Given the description of an element on the screen output the (x, y) to click on. 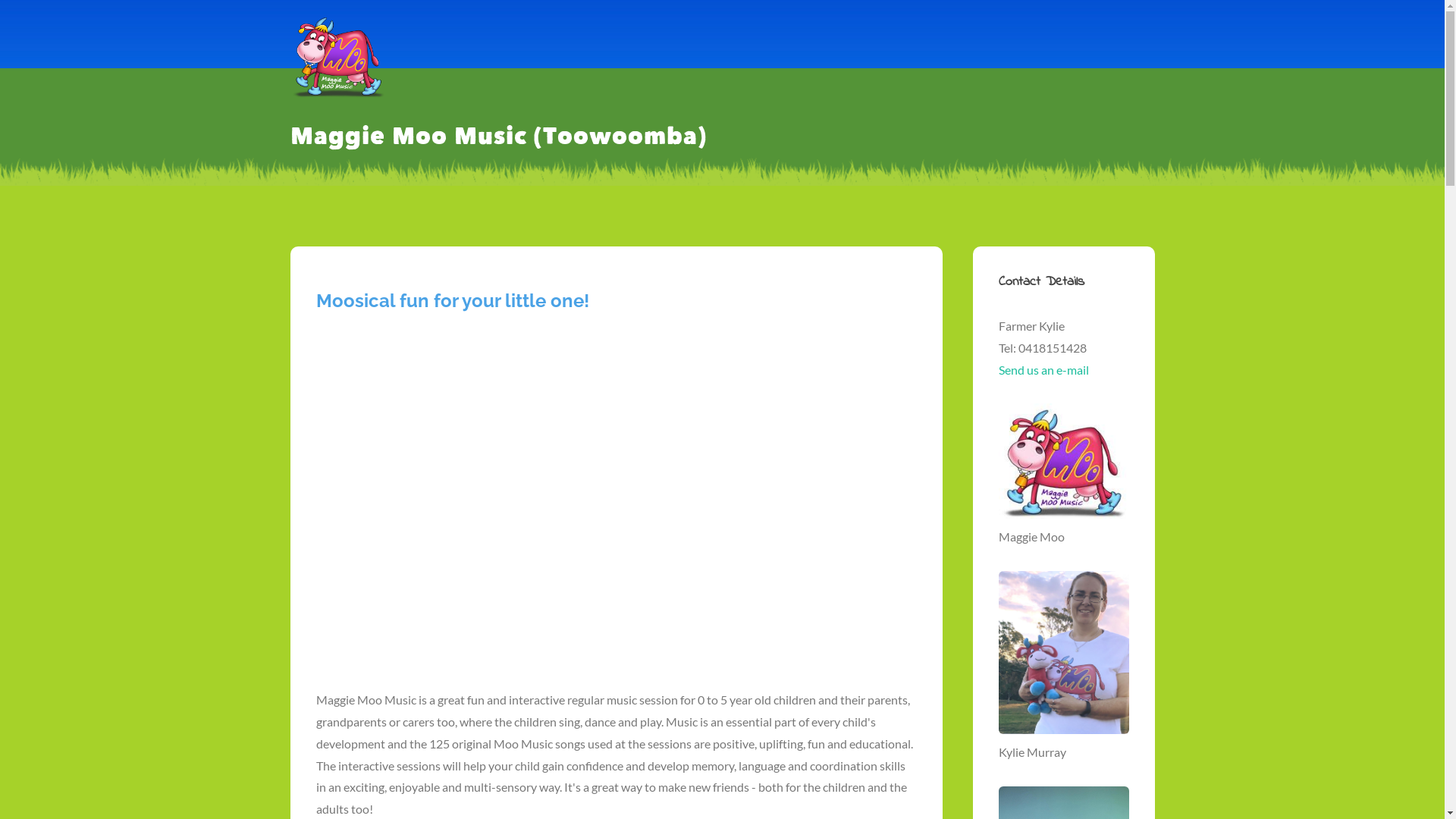
Send us an e-mail Element type: text (1042, 369)
